Given the description of an element on the screen output the (x, y) to click on. 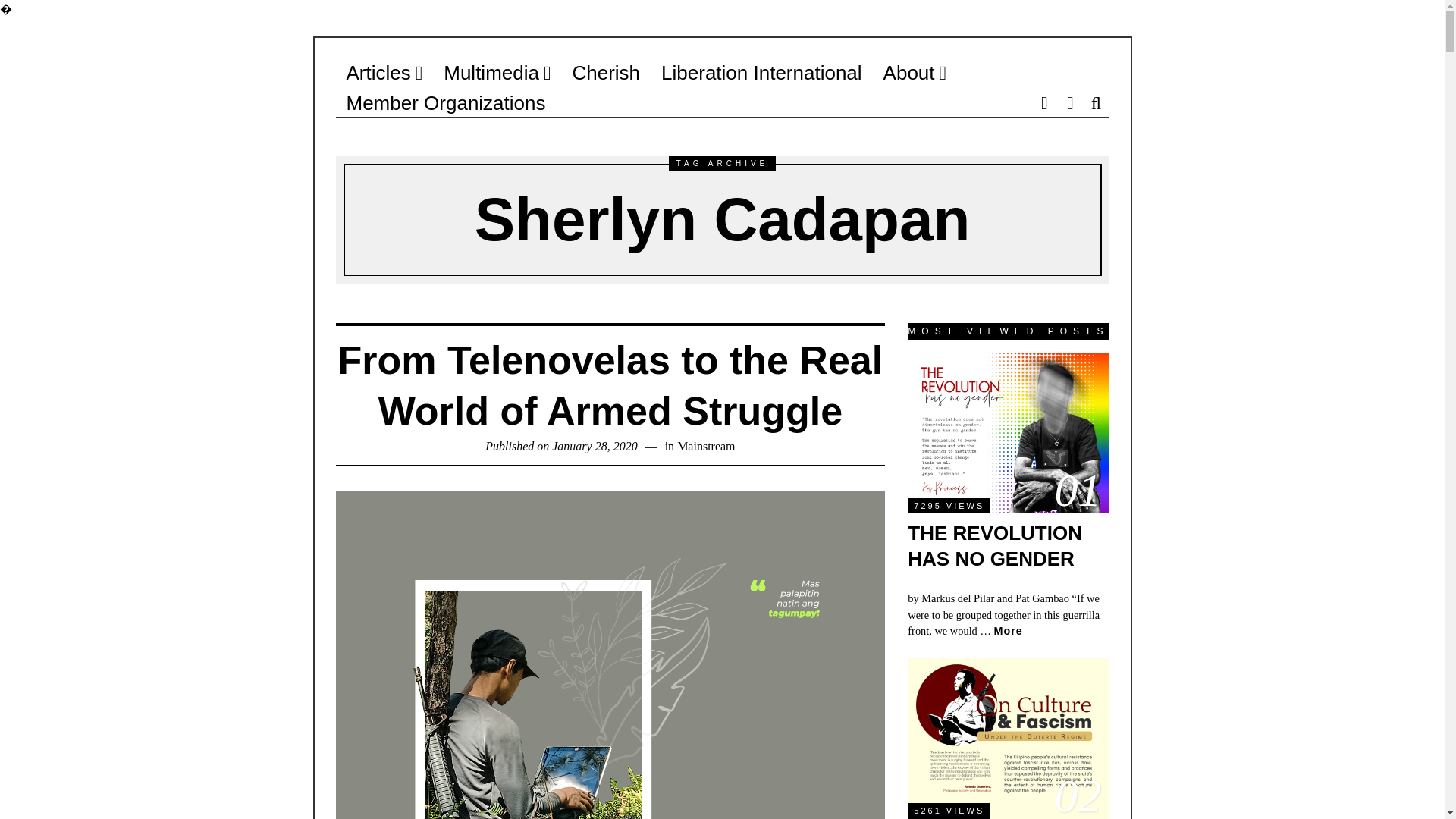
From Telenovelas to the Real World of Armed Struggle (610, 386)
Mainstream (706, 445)
Multimedia (496, 72)
About (914, 72)
Cherish (605, 72)
Member Organizations (445, 102)
Articles (383, 72)
Liberation International (761, 72)
